Given the description of an element on the screen output the (x, y) to click on. 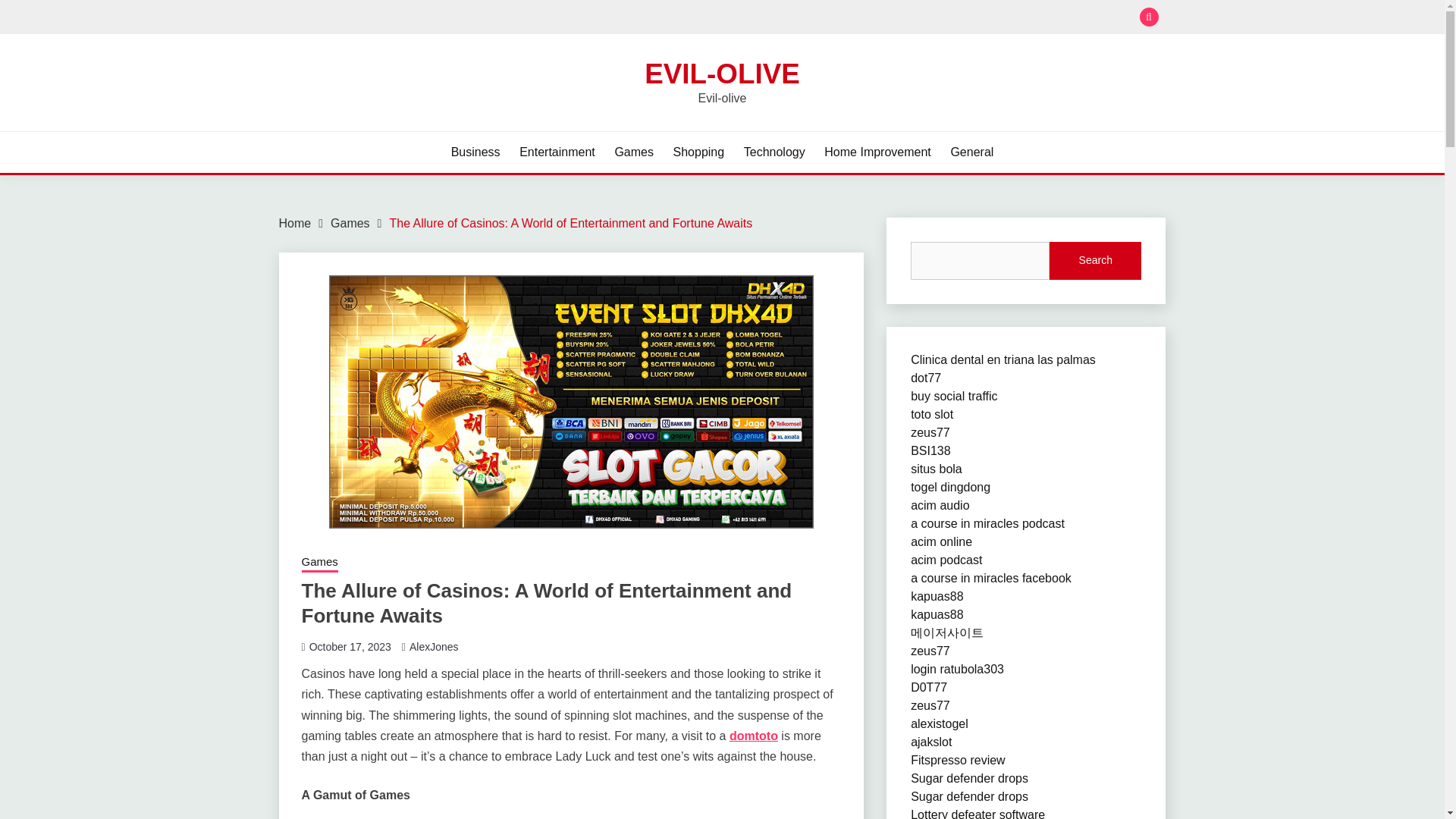
Clinica dental en triana las palmas (1003, 359)
Search (1095, 260)
AlexJones (433, 646)
Home (295, 223)
Shopping (698, 152)
Technology (774, 152)
buy social traffic (954, 395)
Home Improvement (877, 152)
Games (319, 563)
